Given the description of an element on the screen output the (x, y) to click on. 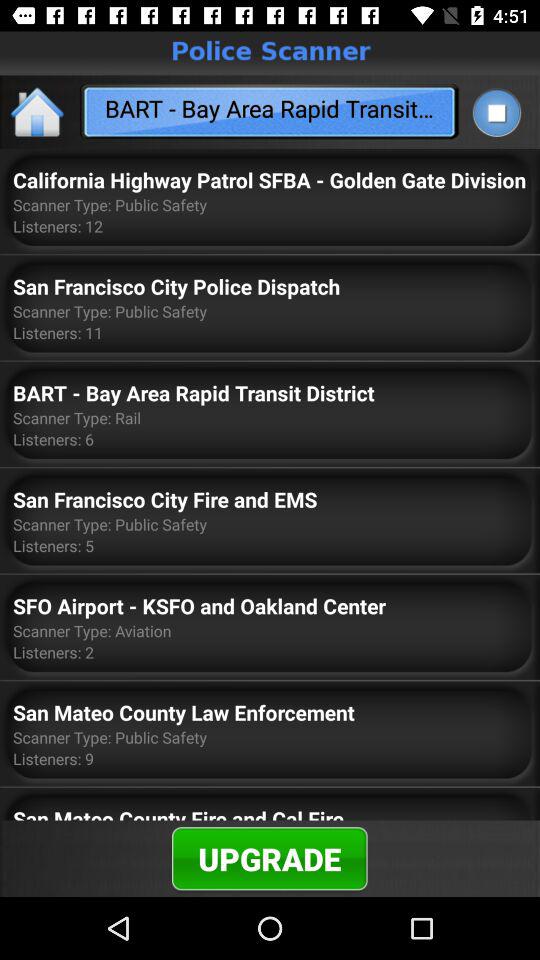
home page (38, 111)
